Given the description of an element on the screen output the (x, y) to click on. 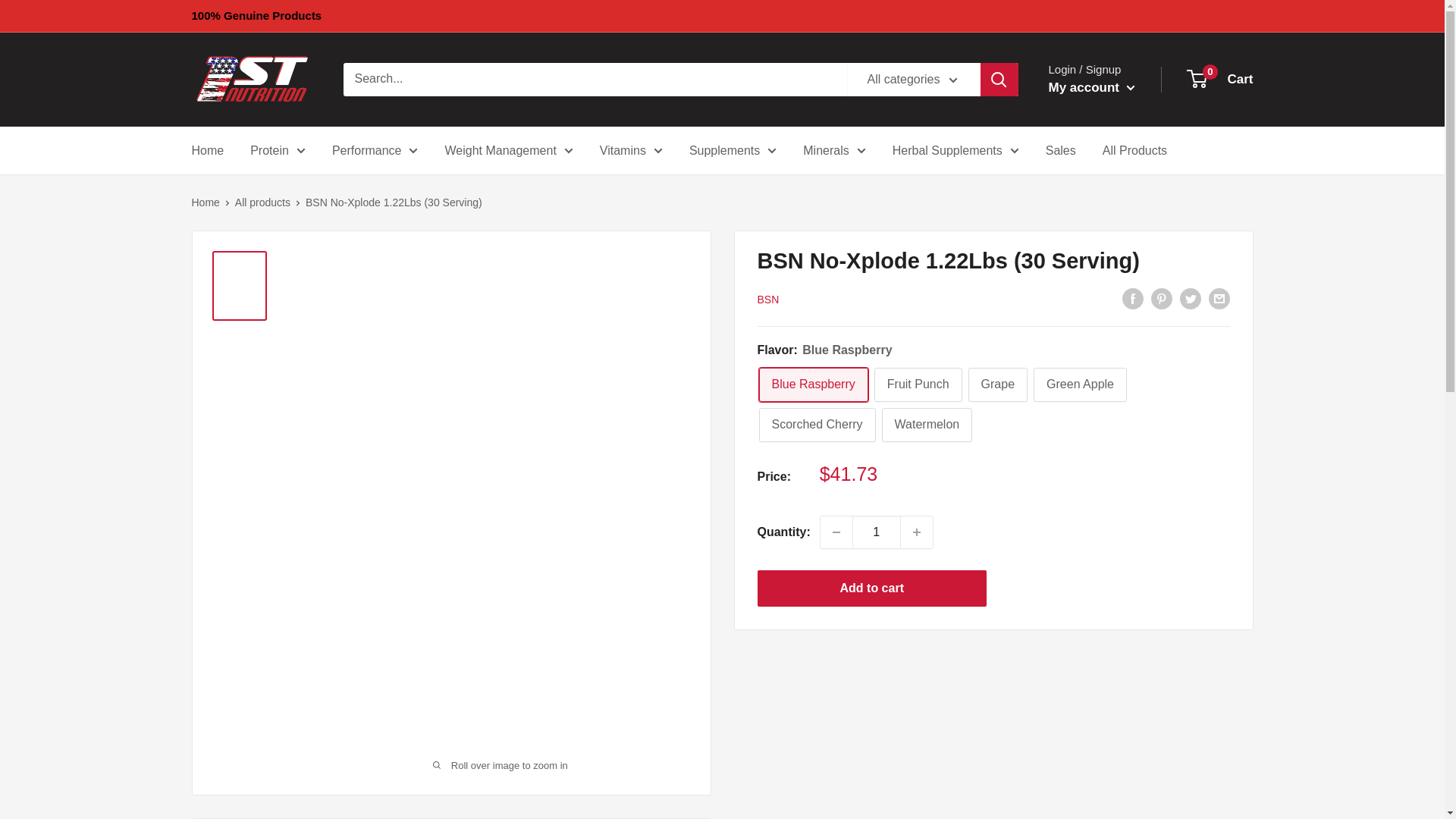
Grape (997, 384)
Decrease quantity by 1 (836, 531)
Blue Raspberry (812, 384)
Watermelon (927, 424)
Fruit Punch (918, 384)
1 (876, 531)
Scorched Cherry (816, 424)
Increase quantity by 1 (917, 531)
Green Apple (1079, 384)
